Given the description of an element on the screen output the (x, y) to click on. 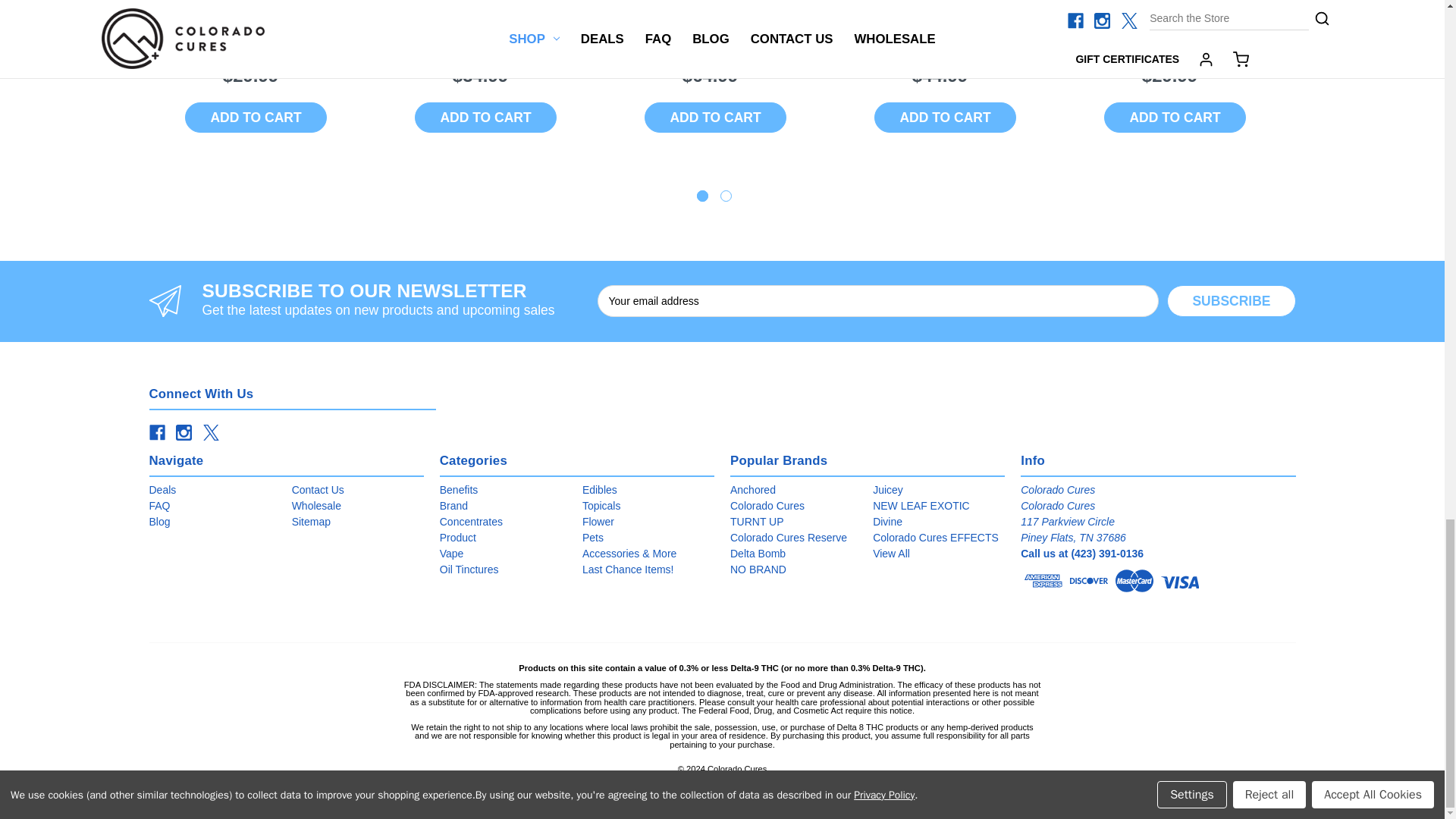
Subscribe (1231, 300)
